Given the description of an element on the screen output the (x, y) to click on. 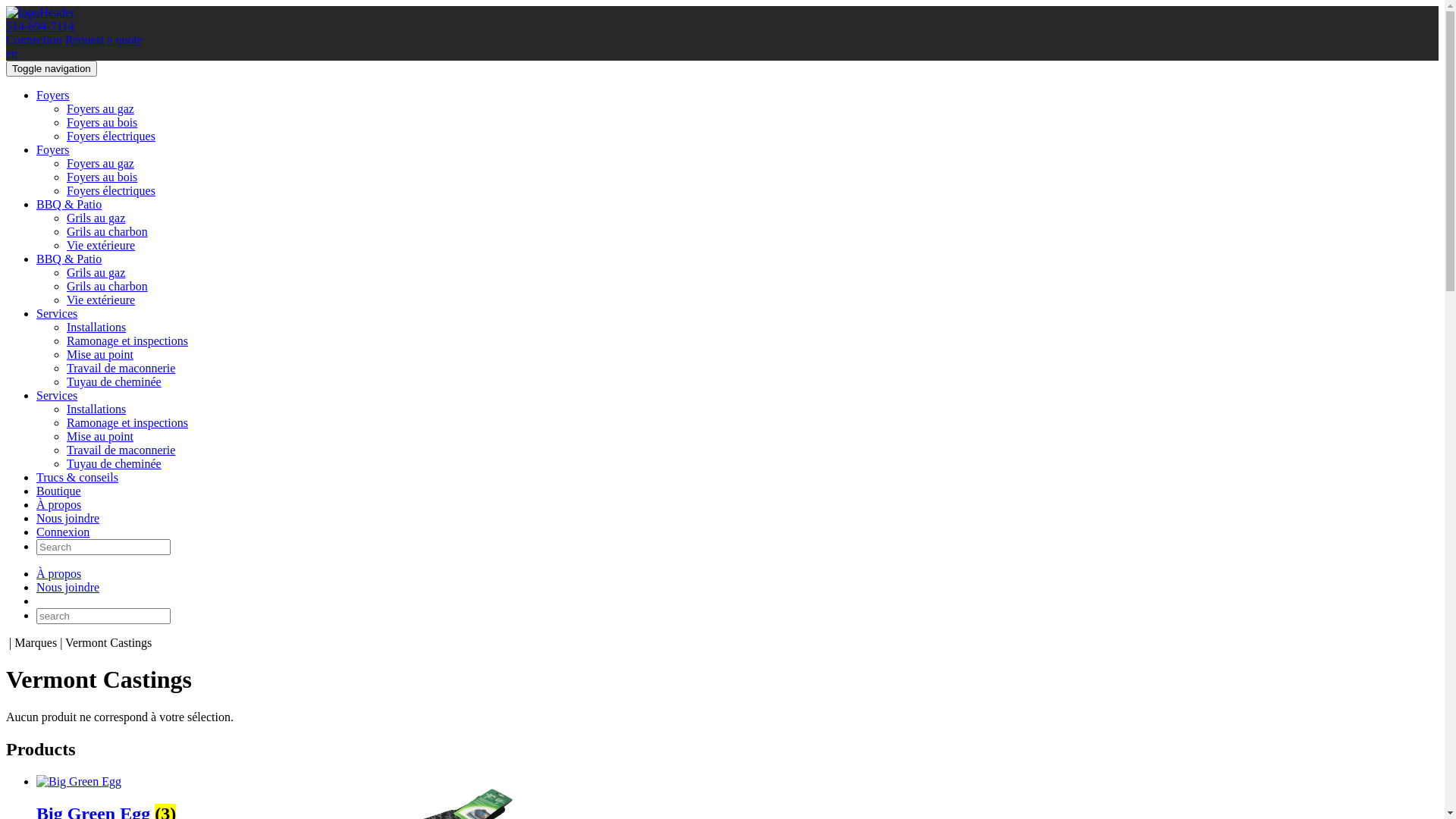
en Element type: text (11, 53)
Mise au point Element type: text (99, 354)
BBQ & Patio Element type: text (68, 258)
Installations Element type: text (95, 408)
Grils au charbon Element type: text (106, 285)
Connection Element type: text (34, 39)
BBQ & Patio Element type: text (68, 203)
Grils au charbon Element type: text (106, 231)
Nous joindre Element type: text (67, 517)
Services Element type: text (56, 395)
Nous joindre Element type: text (67, 586)
Foyers au bois Element type: text (101, 122)
Ramonage et inspections Element type: text (127, 422)
Mise au point Element type: text (99, 435)
Toggle navigation Element type: text (51, 68)
Connexion Element type: text (62, 531)
Foyers au gaz Element type: text (100, 162)
Ramonage et inspections Element type: text (127, 340)
Grils au gaz Element type: text (95, 217)
Trucs & conseils Element type: text (77, 476)
Travail de maconnerie Element type: text (120, 449)
Grils au gaz Element type: text (95, 272)
Boutique Element type: text (58, 490)
Travail de maconnerie Element type: text (120, 367)
Installations Element type: text (95, 326)
514-694-7114 Element type: text (40, 25)
Foyers au bois Element type: text (101, 176)
Services Element type: text (56, 313)
Request a quote Element type: text (103, 39)
Foyers Element type: text (52, 94)
Foyers au gaz Element type: text (100, 108)
Foyers Element type: text (52, 149)
